Given the description of an element on the screen output the (x, y) to click on. 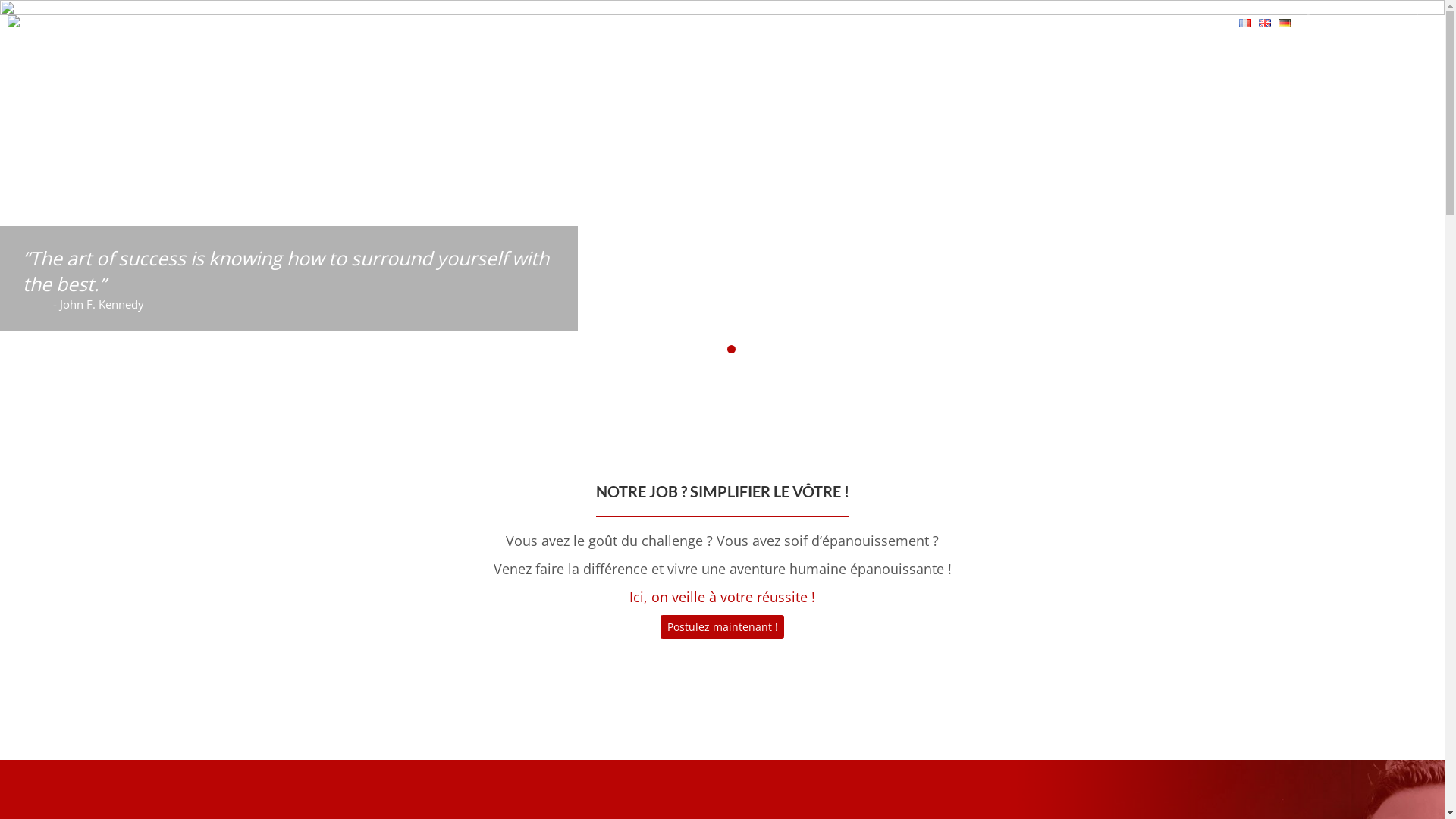
BIM Element type: text (1025, 23)
CONTACT Element type: text (1185, 23)
LIFE SCIENCES Element type: text (946, 23)
3 Element type: text (730, 349)
A PROPOS Element type: text (539, 23)
4 Element type: text (748, 349)
Postulez maintenant ! Element type: text (722, 626)
slide-pharma-02-adequate Element type: hover (722, 180)
2 Element type: text (713, 349)
1 Element type: text (695, 349)
